Given the description of an element on the screen output the (x, y) to click on. 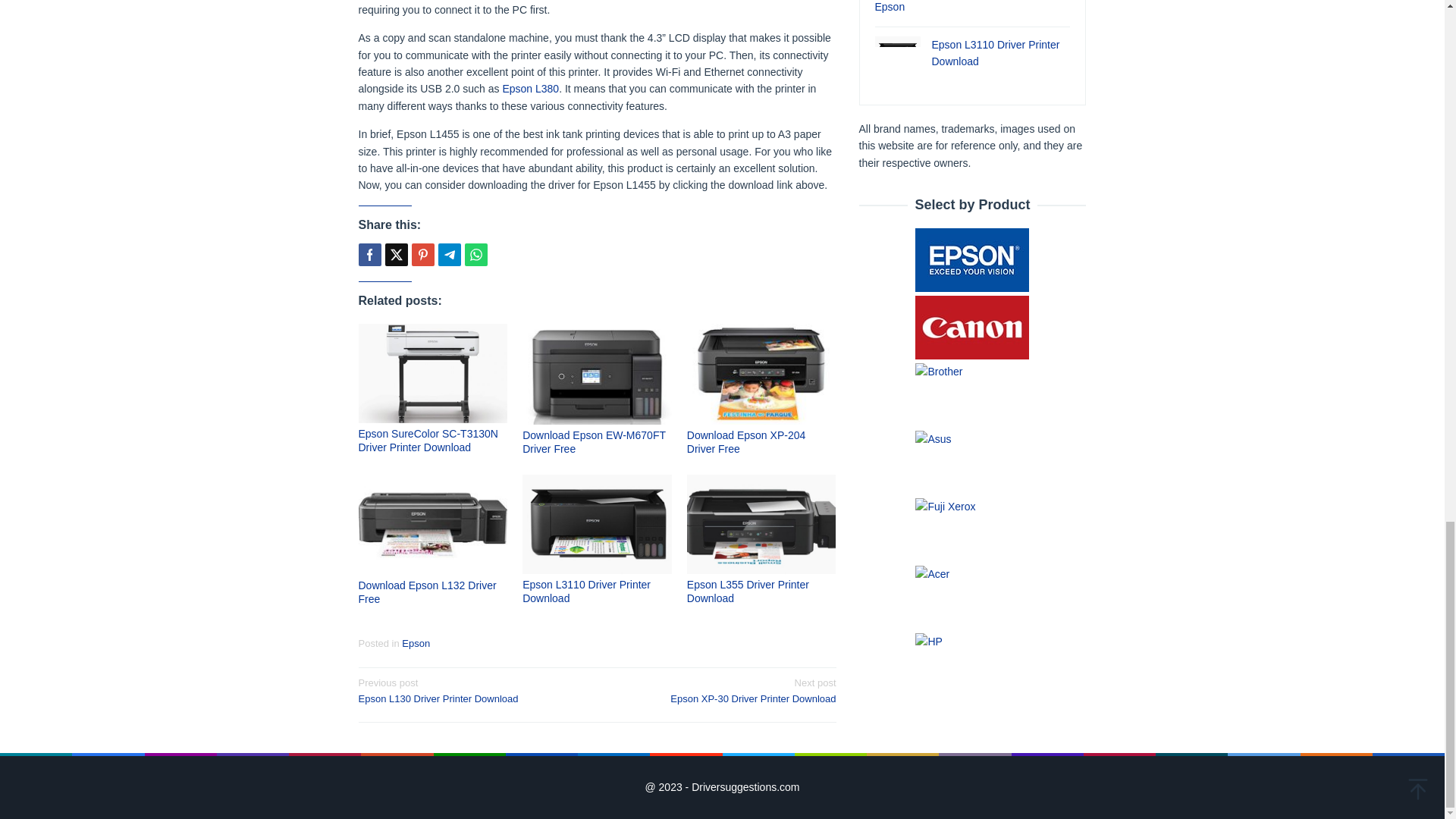
Permalink to: Download Epson EW-M670FT Driver Free (593, 442)
Permalink to: Download Epson EW-M670FT Driver Free (596, 374)
Epson SureColor SC-T3130N Driver Printer Download (427, 440)
Pin this (421, 254)
Telegram Share (449, 254)
Epson L380 Driver Printer Download (530, 88)
Download Epson EW-M670FT Driver Free (593, 442)
Share this (369, 254)
